Given the description of an element on the screen output the (x, y) to click on. 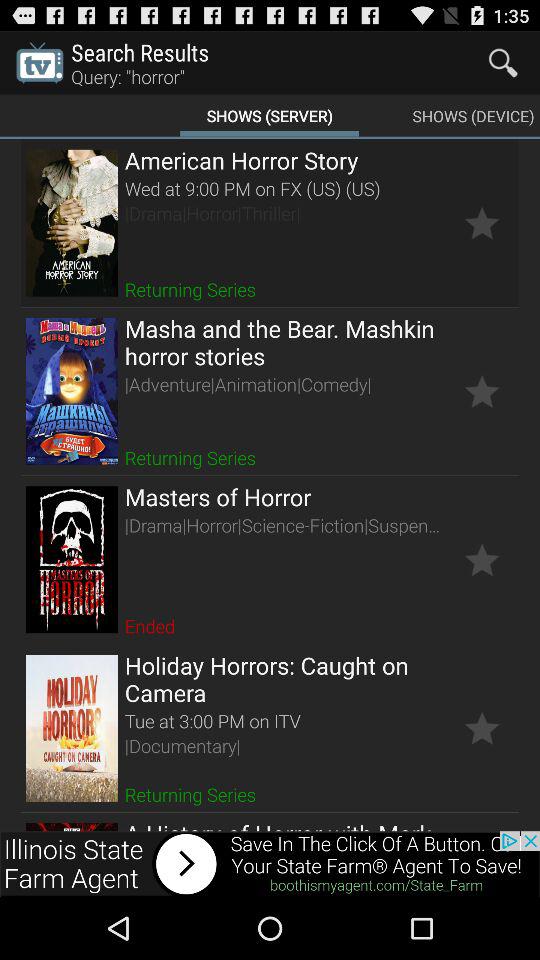
rating (481, 222)
